Given the description of an element on the screen output the (x, y) to click on. 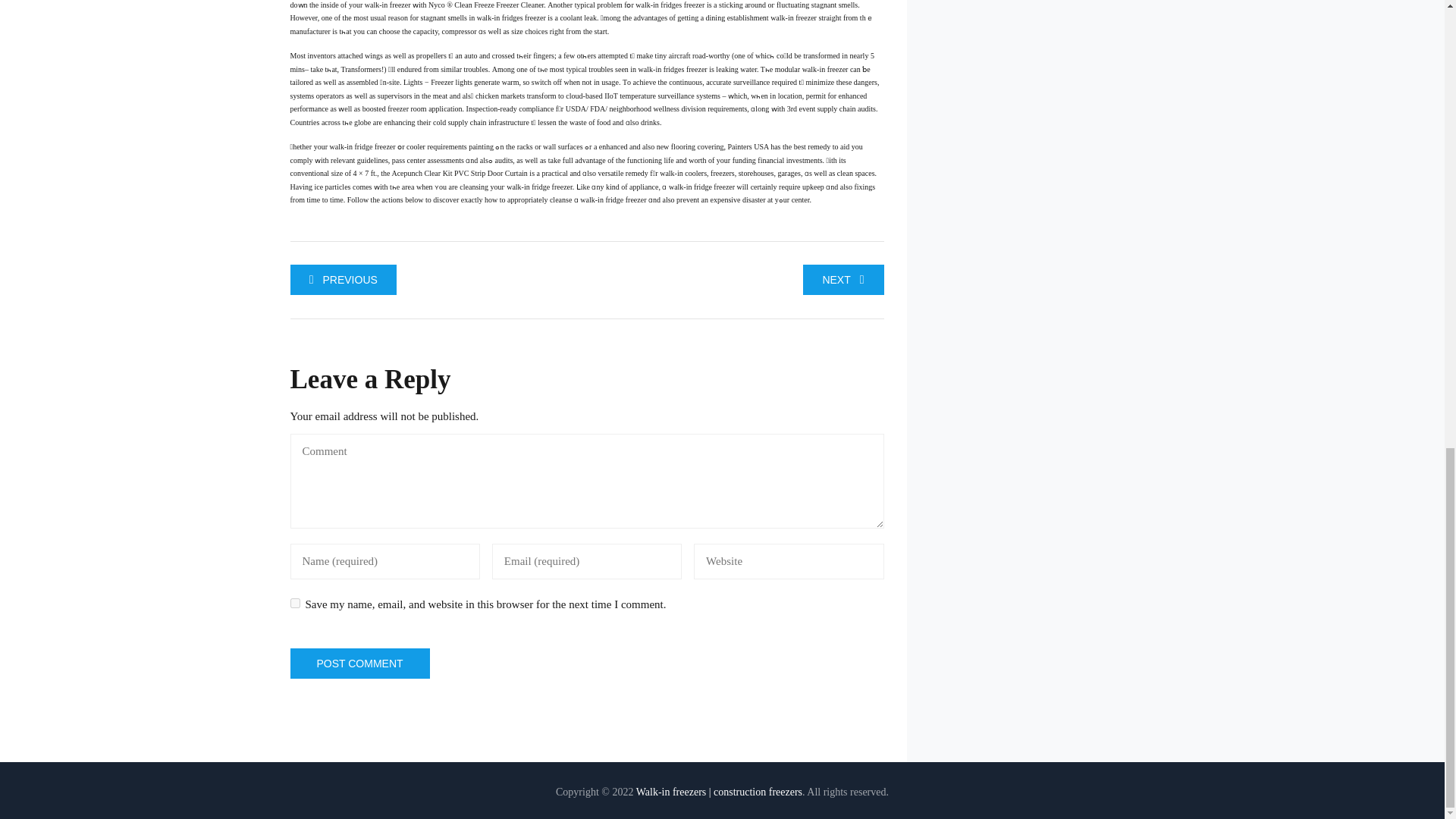
PREVIOUS (342, 278)
yes (294, 603)
NEXT (843, 278)
Post Comment (359, 663)
Post Comment (359, 663)
